Given the description of an element on the screen output the (x, y) to click on. 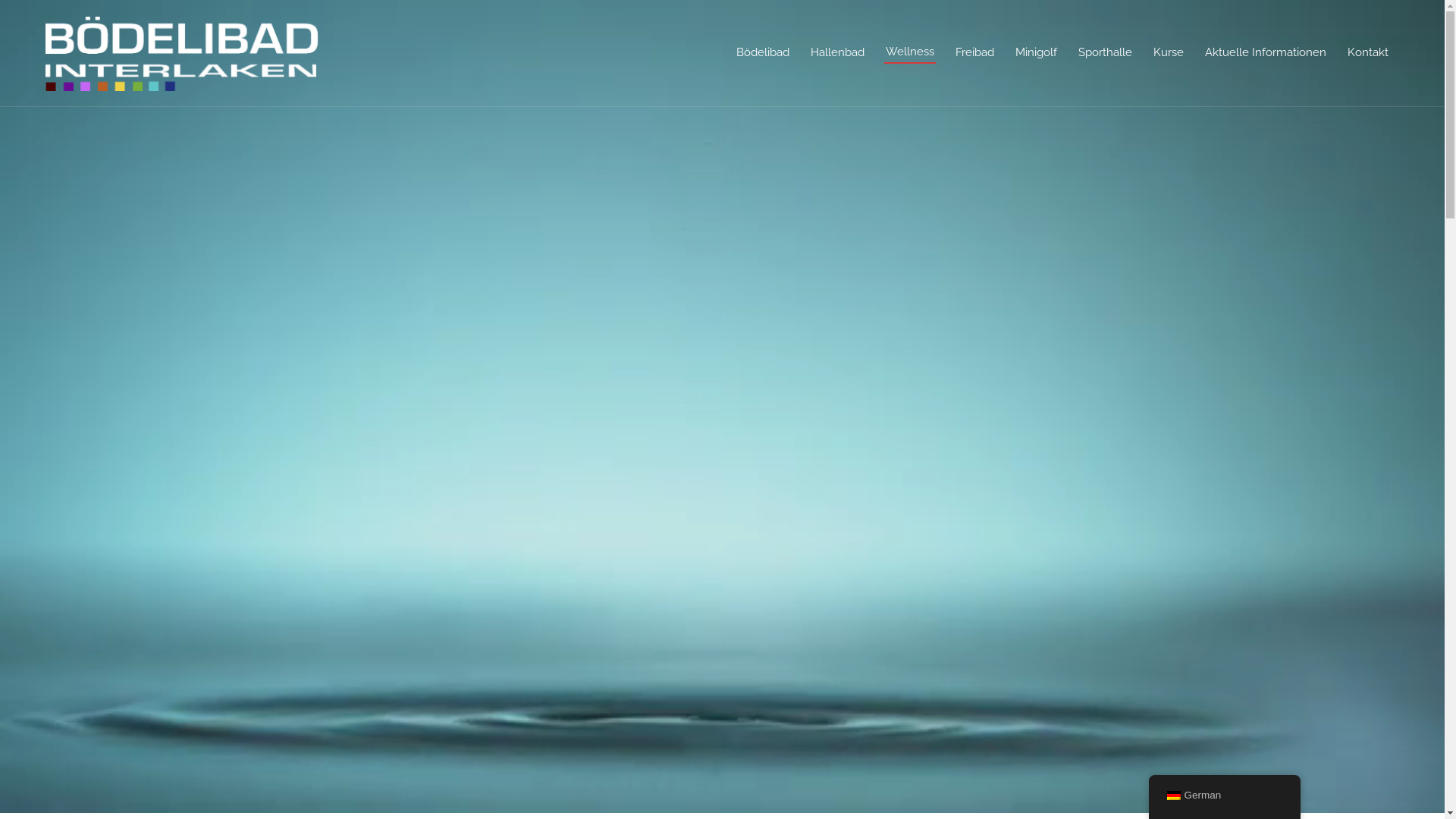
Freibad Element type: text (974, 52)
Kontakt Element type: text (1367, 52)
Sporthalle Element type: text (1105, 52)
Kurse Element type: text (1168, 52)
Hallenbad Element type: text (837, 52)
German Element type: hover (1172, 795)
Wellness Element type: text (909, 52)
German Element type: text (1223, 795)
Minigolf Element type: text (1036, 52)
Aktuelle Informationen Element type: text (1265, 52)
